Given the description of an element on the screen output the (x, y) to click on. 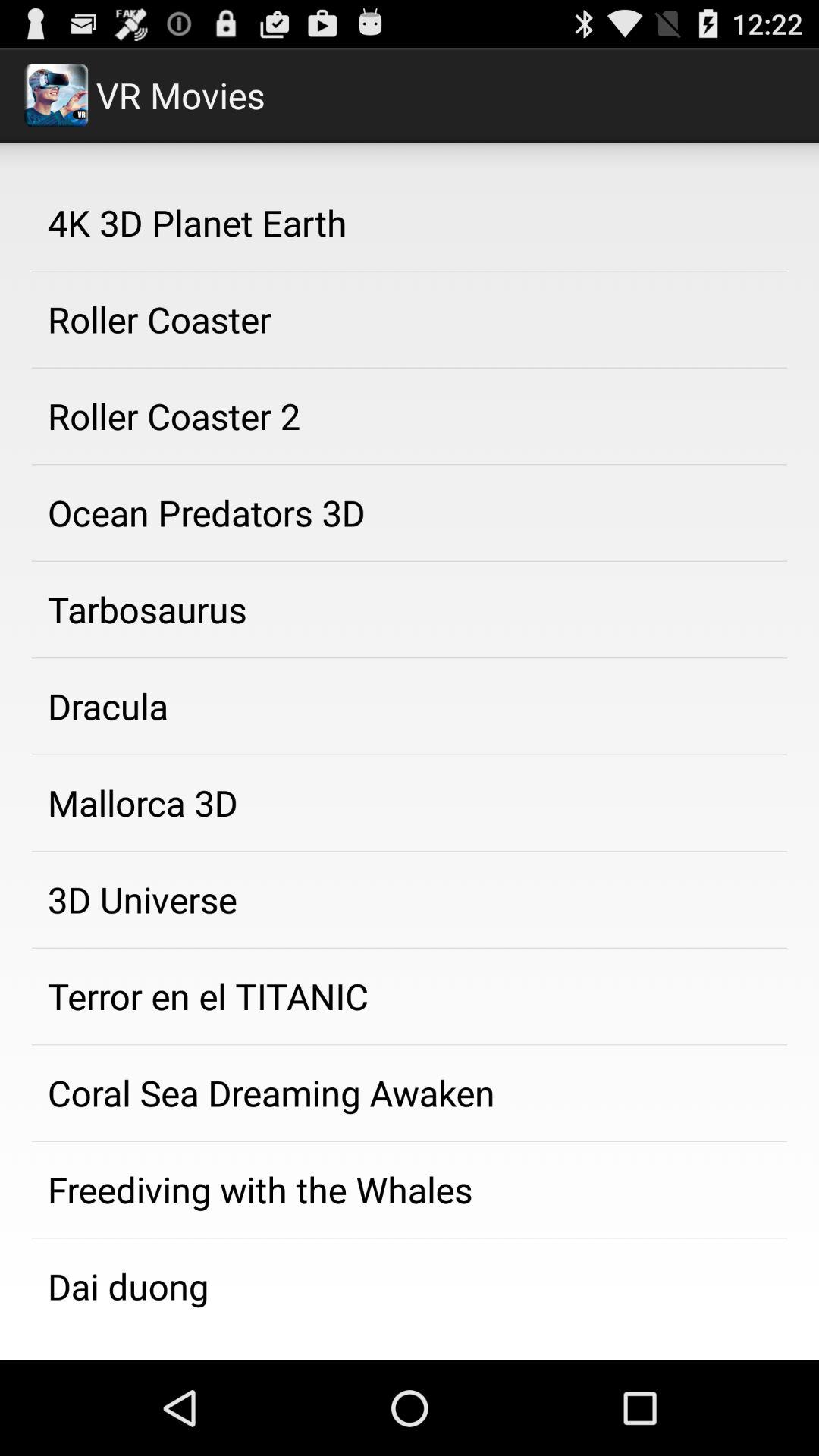
press 4k 3d planet icon (409, 222)
